Given the description of an element on the screen output the (x, y) to click on. 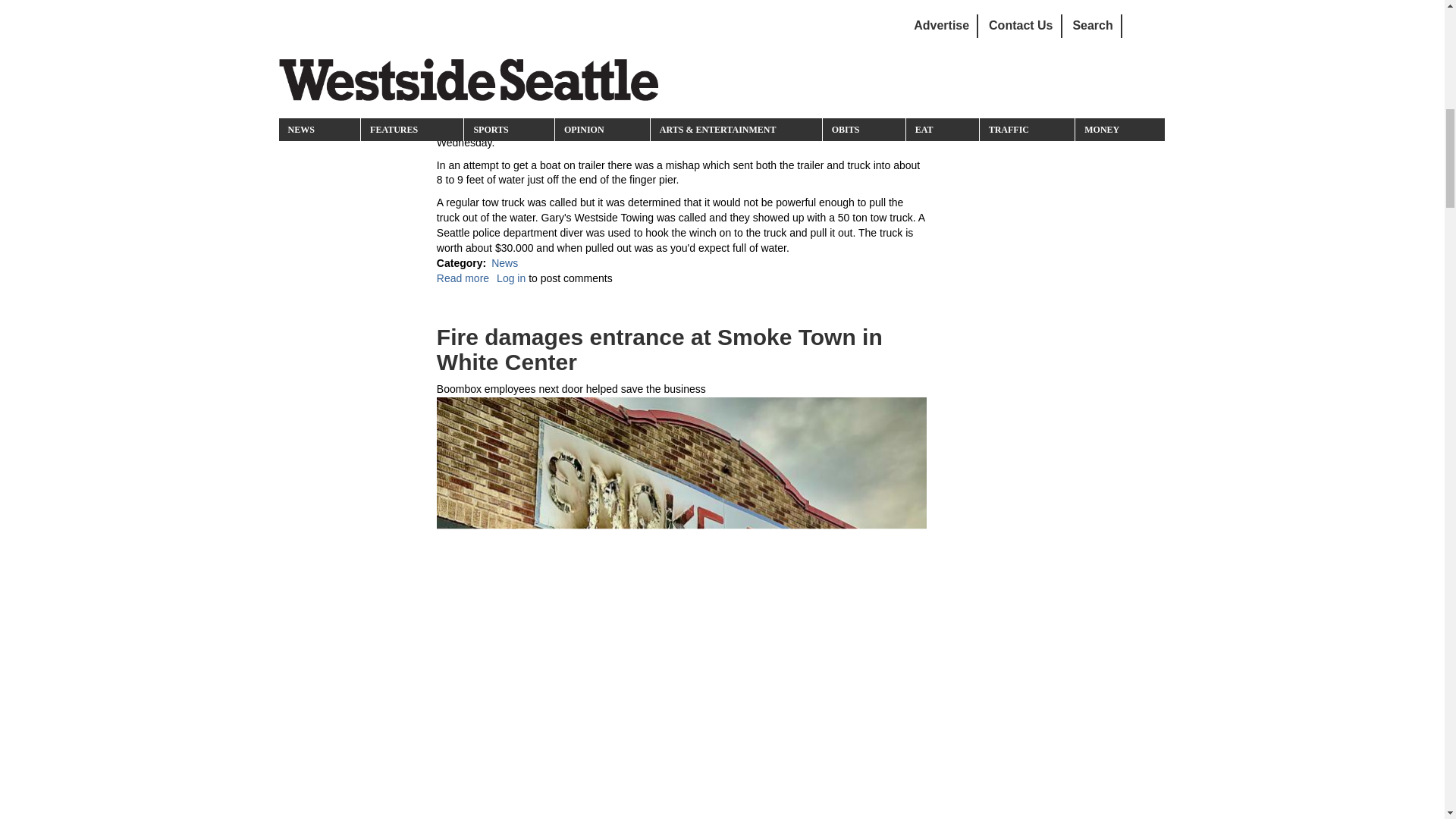
News (678, 263)
Log in (510, 277)
Fire damages entrance at Smoke Town in White Center (659, 349)
